Given the description of an element on the screen output the (x, y) to click on. 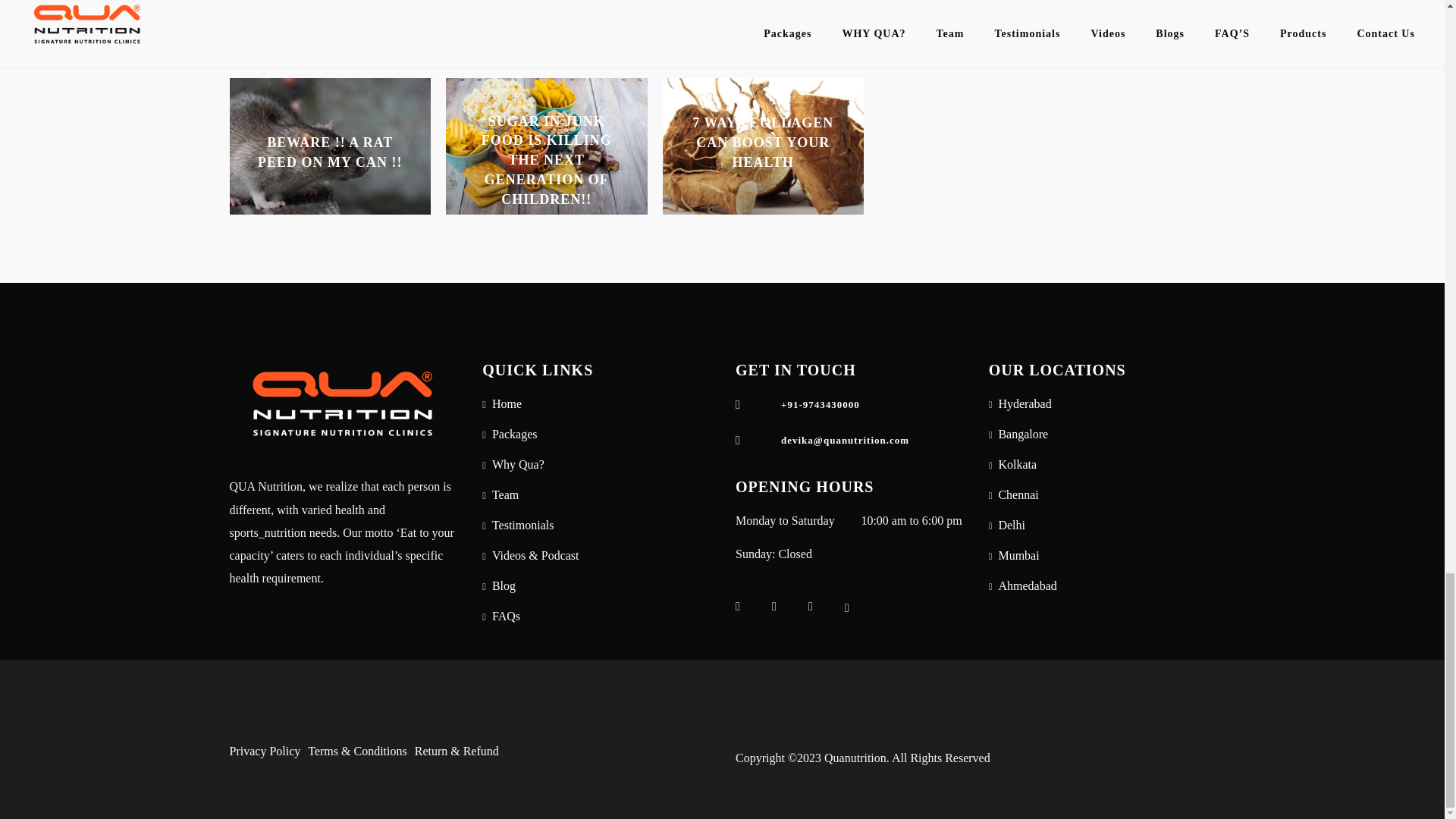
facebook (747, 606)
twitter (820, 606)
instagram (783, 606)
